Given the description of an element on the screen output the (x, y) to click on. 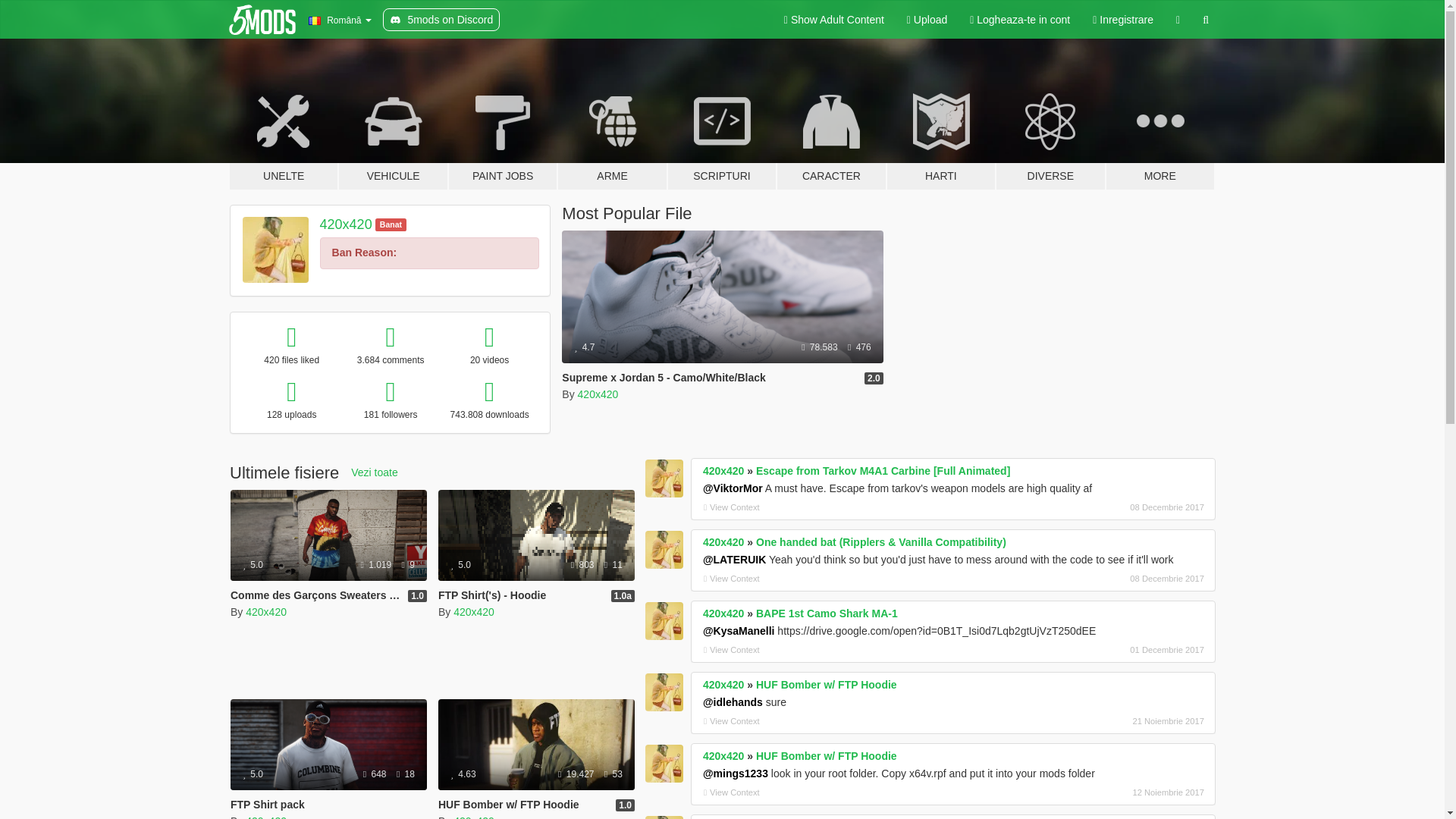
Dark mode (1177, 19)
420x420 (598, 394)
1.0 (416, 595)
476 aprecieri (858, 347)
420x420 (266, 612)
1.019 descarcari (376, 564)
Inregistrare (1122, 19)
4.7 star rating (583, 347)
2.0 (873, 378)
Show Adult Content (834, 19)
9 aprecieri (407, 564)
Upload (926, 19)
Logheaza-te in cont (1019, 19)
5.0 star rating (253, 564)
78.583 descarcari (821, 347)
